Given the description of an element on the screen output the (x, y) to click on. 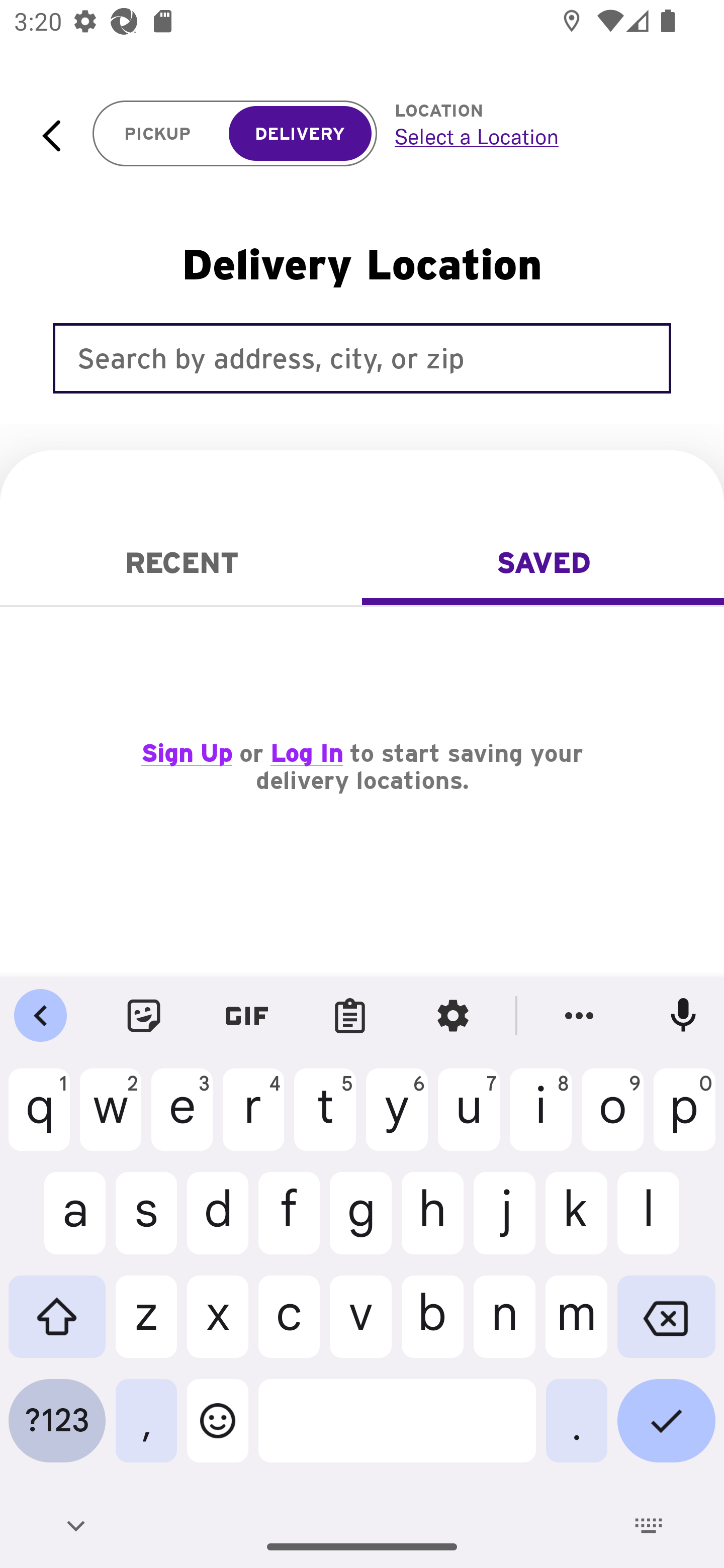
PICKUP (157, 133)
DELIVERY (299, 133)
Select a Location (536, 136)
Search by address, city, or zip (361, 358)
Recent RECENT (181, 562)
